Given the description of an element on the screen output the (x, y) to click on. 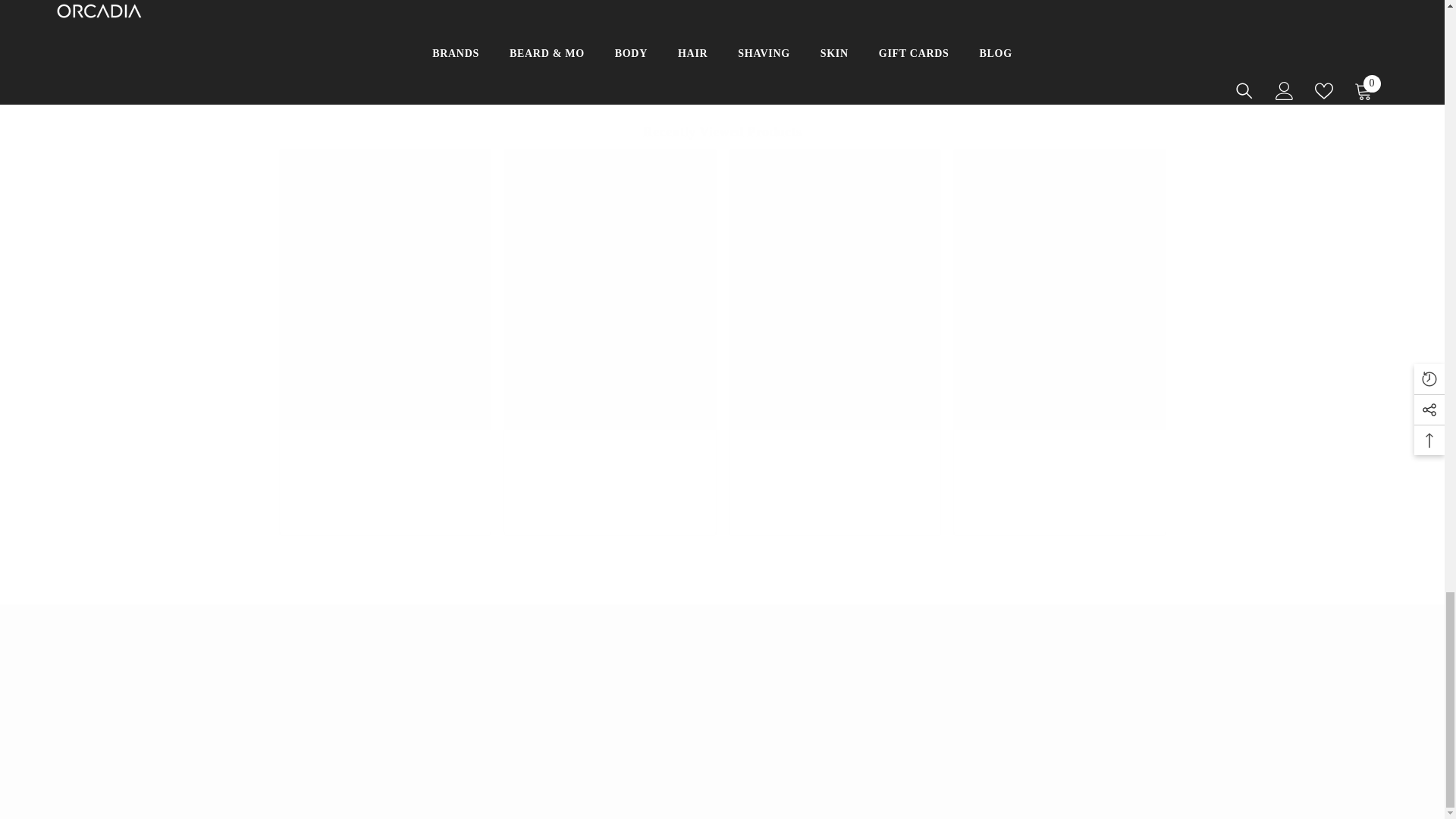
Recently Viewed Products (722, 131)
